Given the description of an element on the screen output the (x, y) to click on. 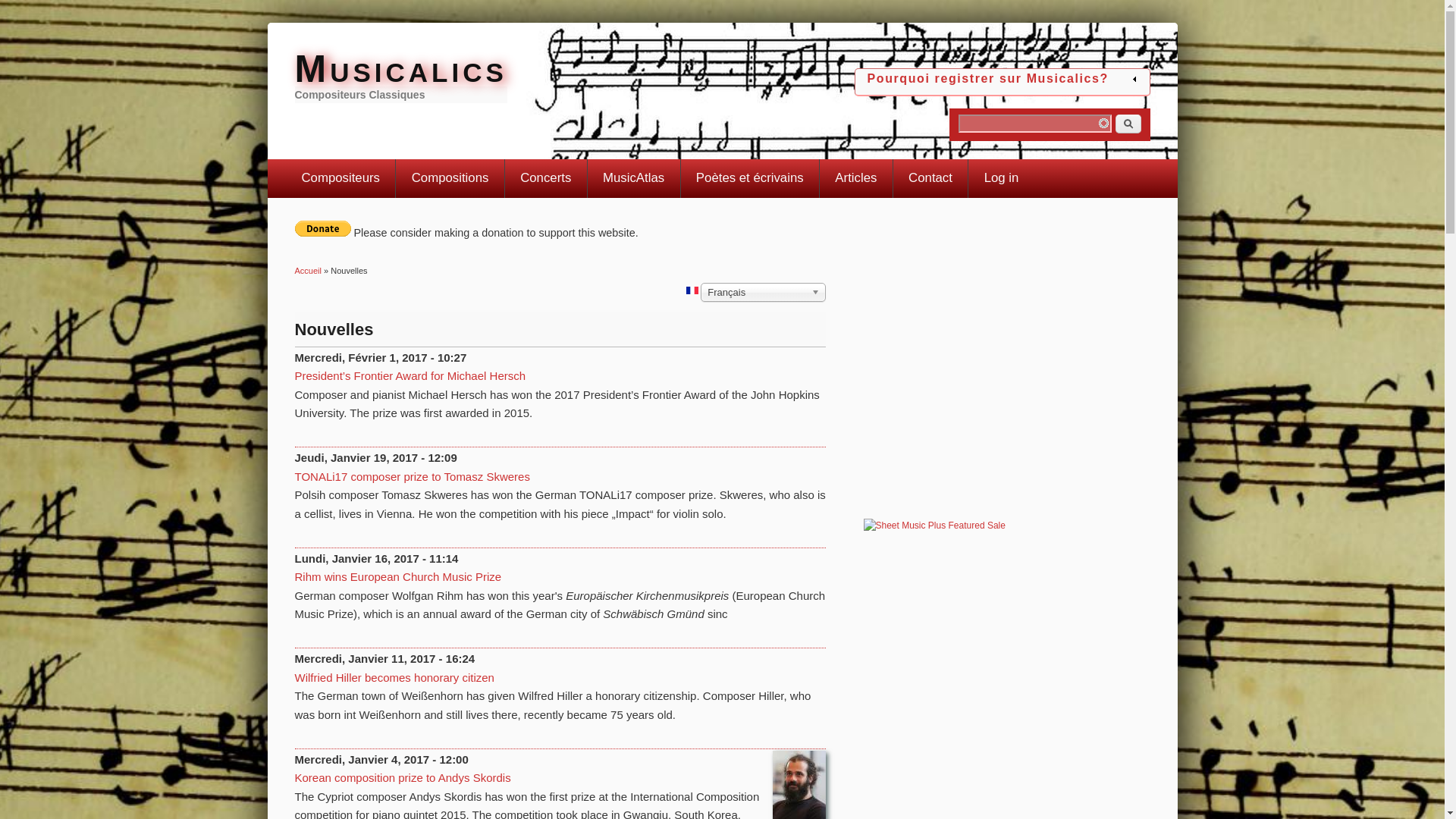
Annonces concerts (545, 177)
Rechercher (1127, 123)
Musicalics (400, 67)
Compositions (449, 177)
Wilfried Hiller becomes honorary citizen (393, 676)
Rechercher (1127, 123)
Rihm wins European Church Music Prize (397, 576)
Contact (930, 177)
Compositeurs (339, 177)
Pourquoi registrer sur Musicalics? (1002, 78)
MusicAtlas (633, 177)
Korean composition prize to Andys Skordis (402, 777)
Accueil (400, 67)
Concerts (545, 177)
Articles (855, 177)
